Given the description of an element on the screen output the (x, y) to click on. 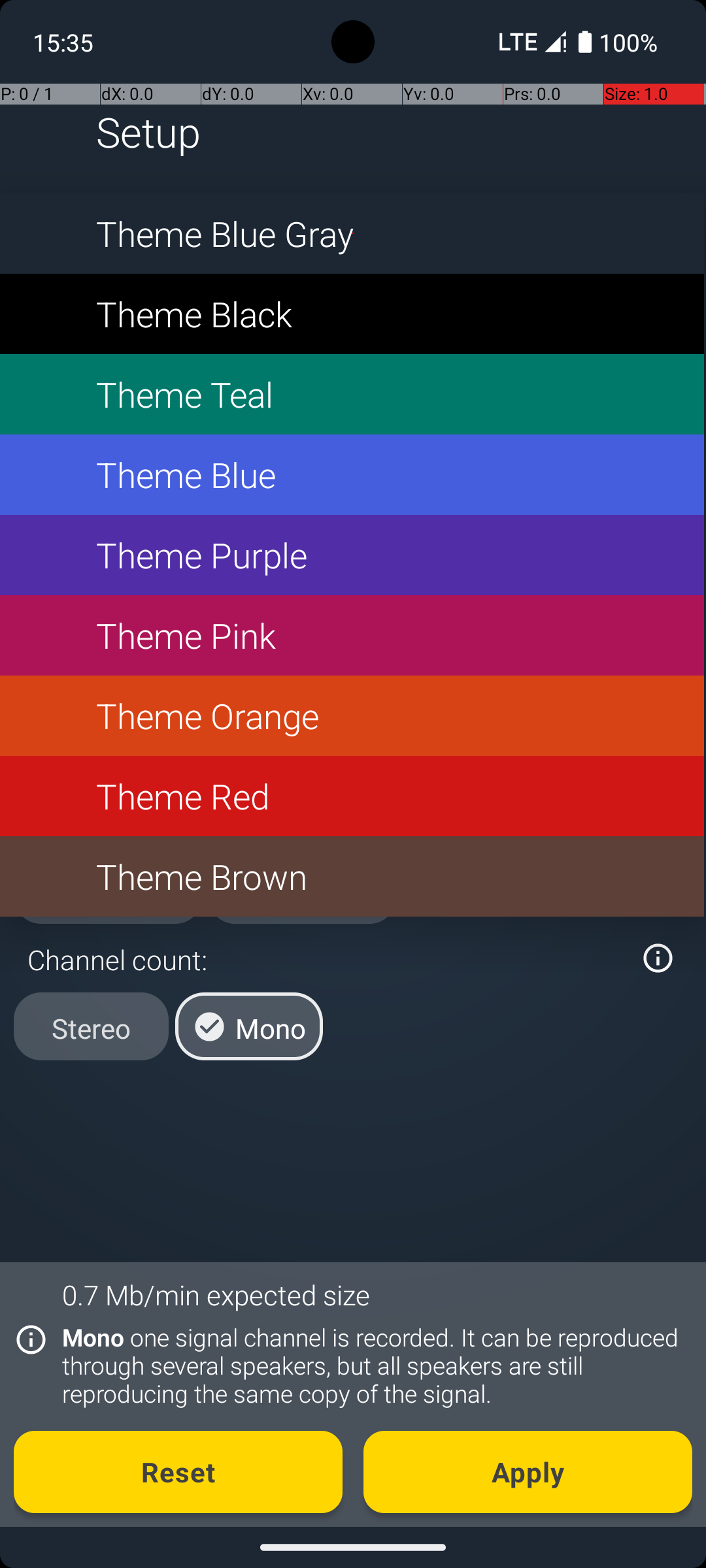
Theme Black Element type: android.widget.TextView (352, 313)
Theme Teal Element type: android.widget.TextView (352, 394)
Theme Blue Element type: android.widget.TextView (352, 474)
Theme Purple Element type: android.widget.TextView (352, 554)
Theme Pink Element type: android.widget.TextView (352, 635)
Theme Orange Element type: android.widget.TextView (352, 715)
Theme Red Element type: android.widget.TextView (352, 795)
Theme Brown Element type: android.widget.TextView (352, 876)
